Given the description of an element on the screen output the (x, y) to click on. 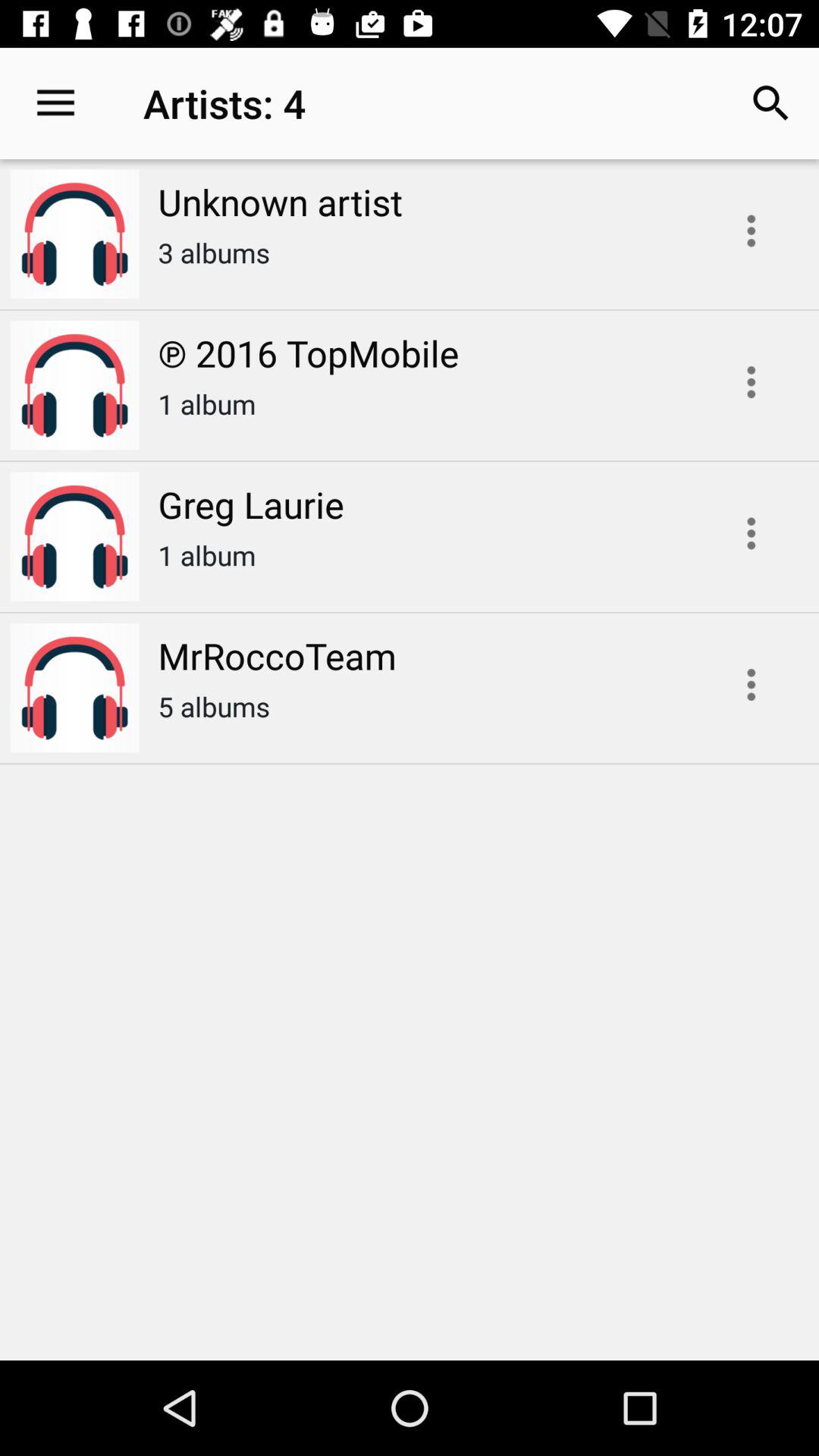
check playlist (750, 381)
